Given the description of an element on the screen output the (x, y) to click on. 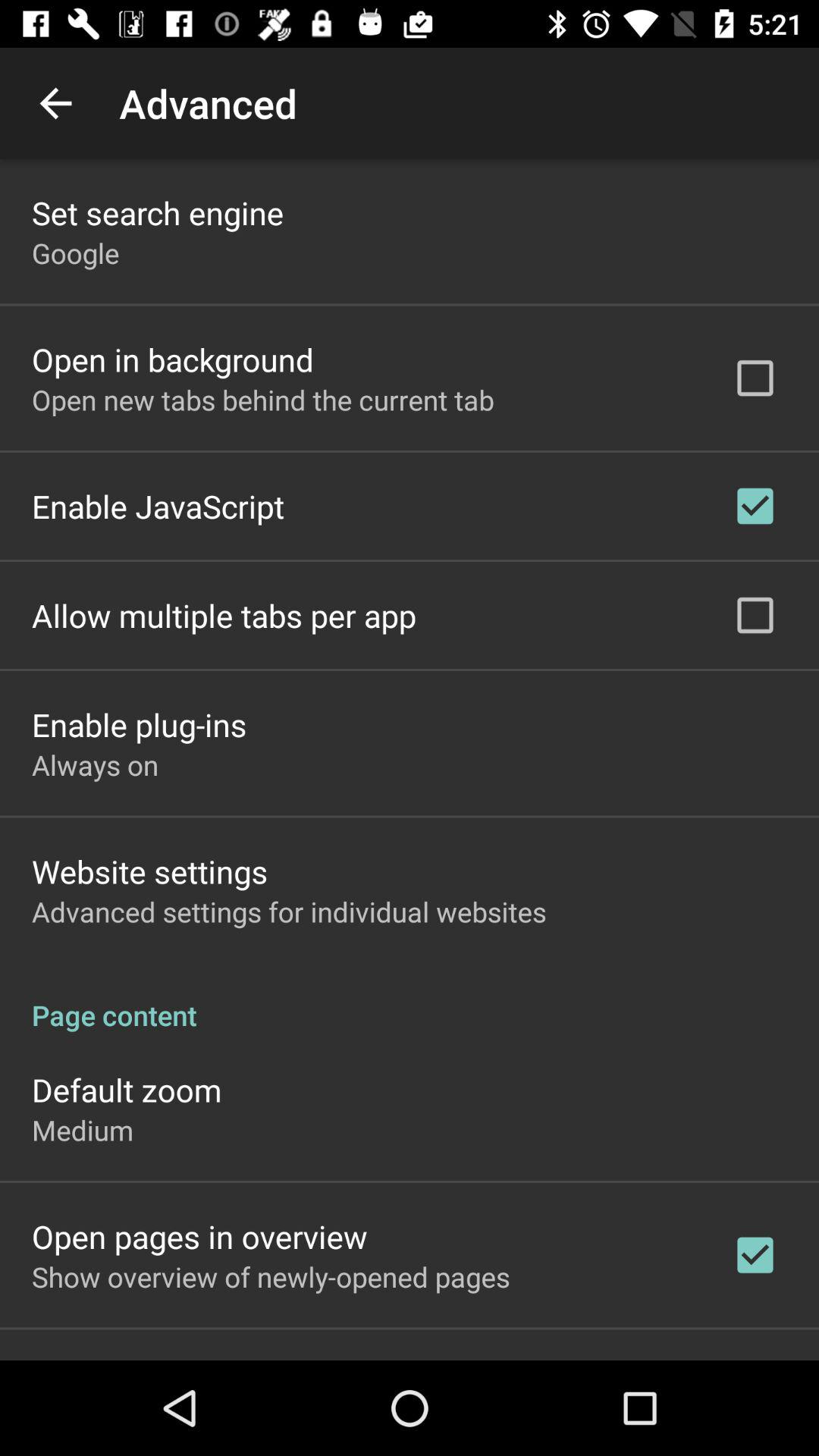
scroll until the default zoom icon (126, 1089)
